Given the description of an element on the screen output the (x, y) to click on. 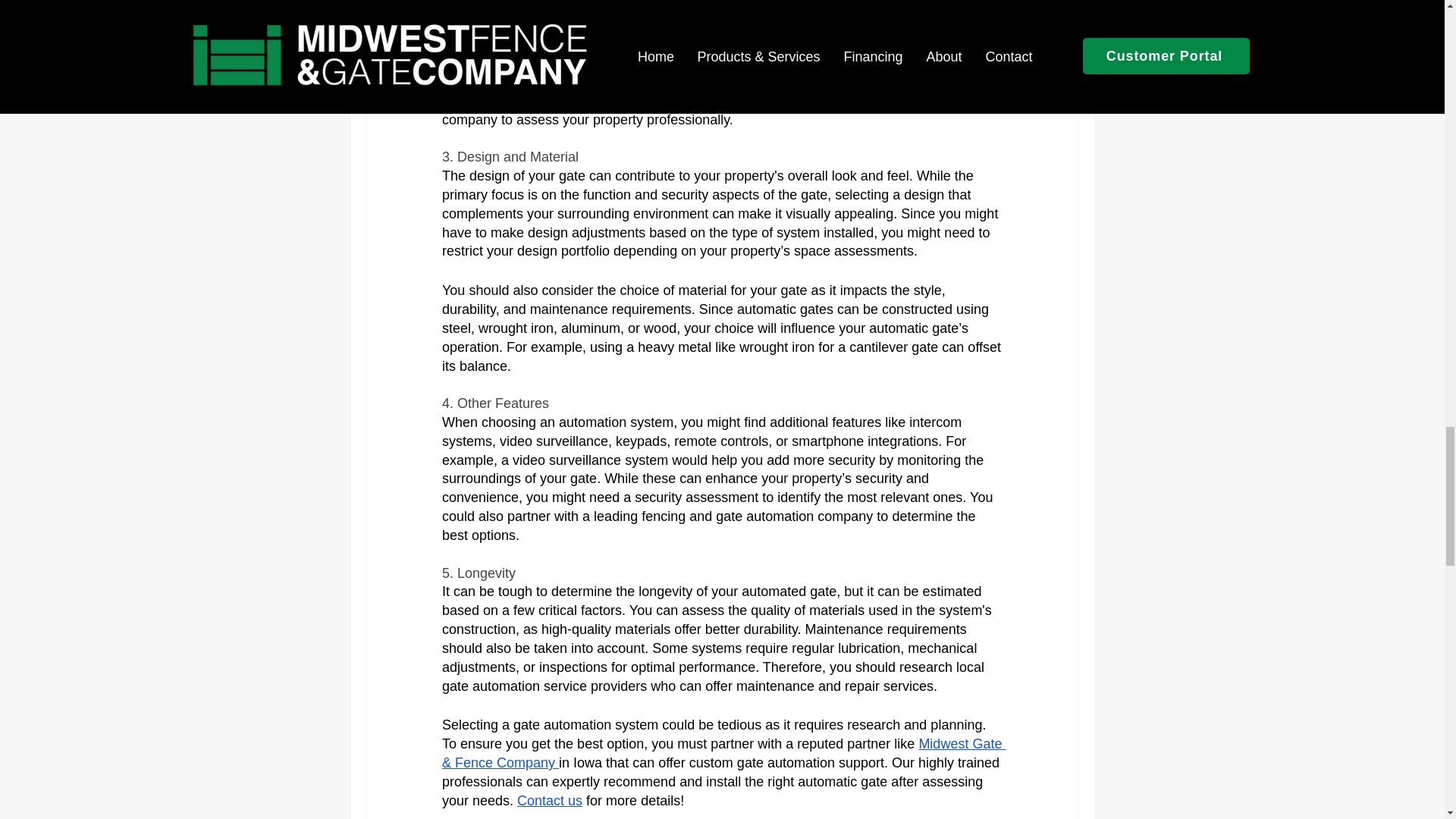
Contact us (549, 800)
